Given the description of an element on the screen output the (x, y) to click on. 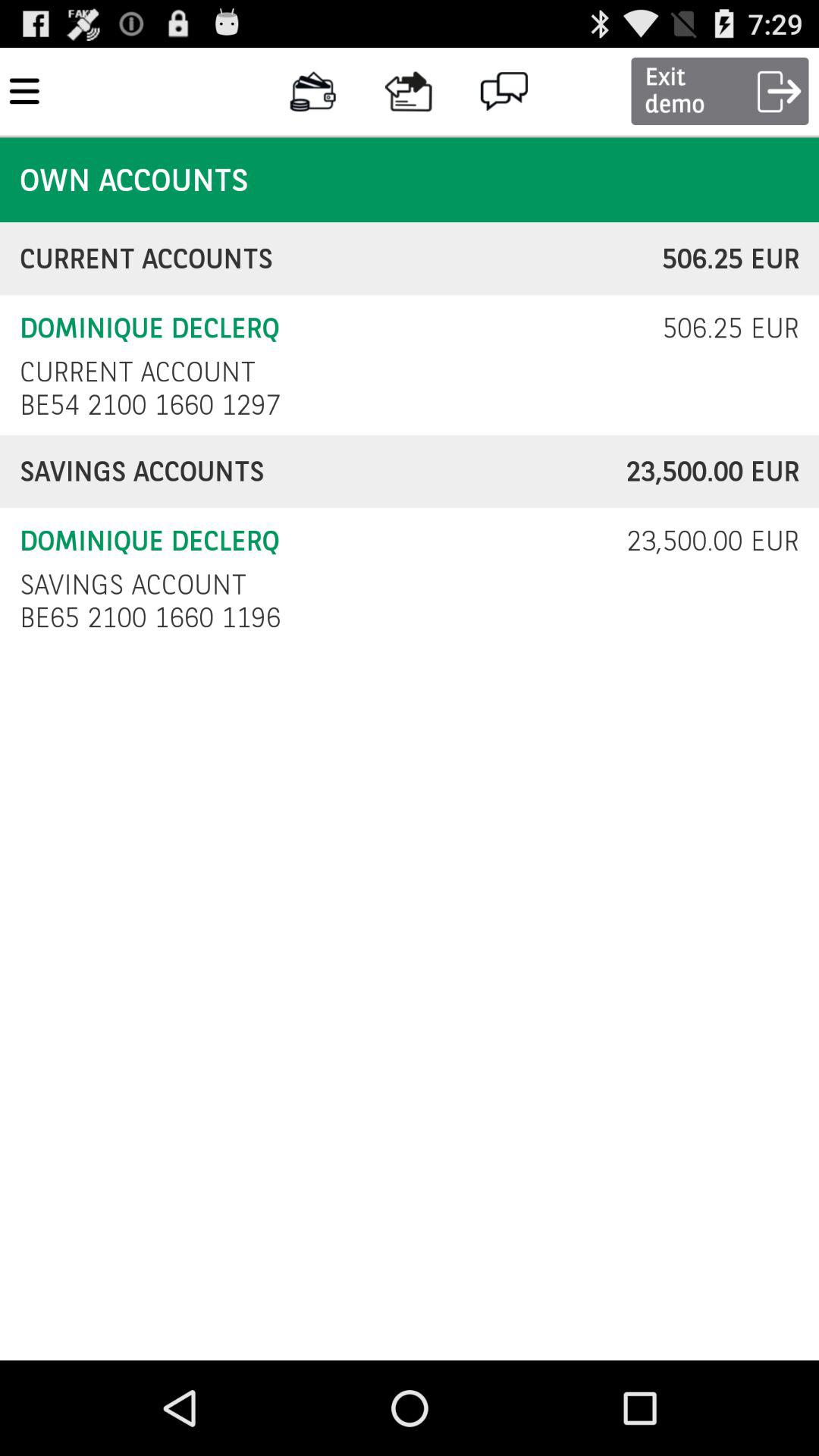
select icon to the left of 23 500 00 (132, 584)
